Given the description of an element on the screen output the (x, y) to click on. 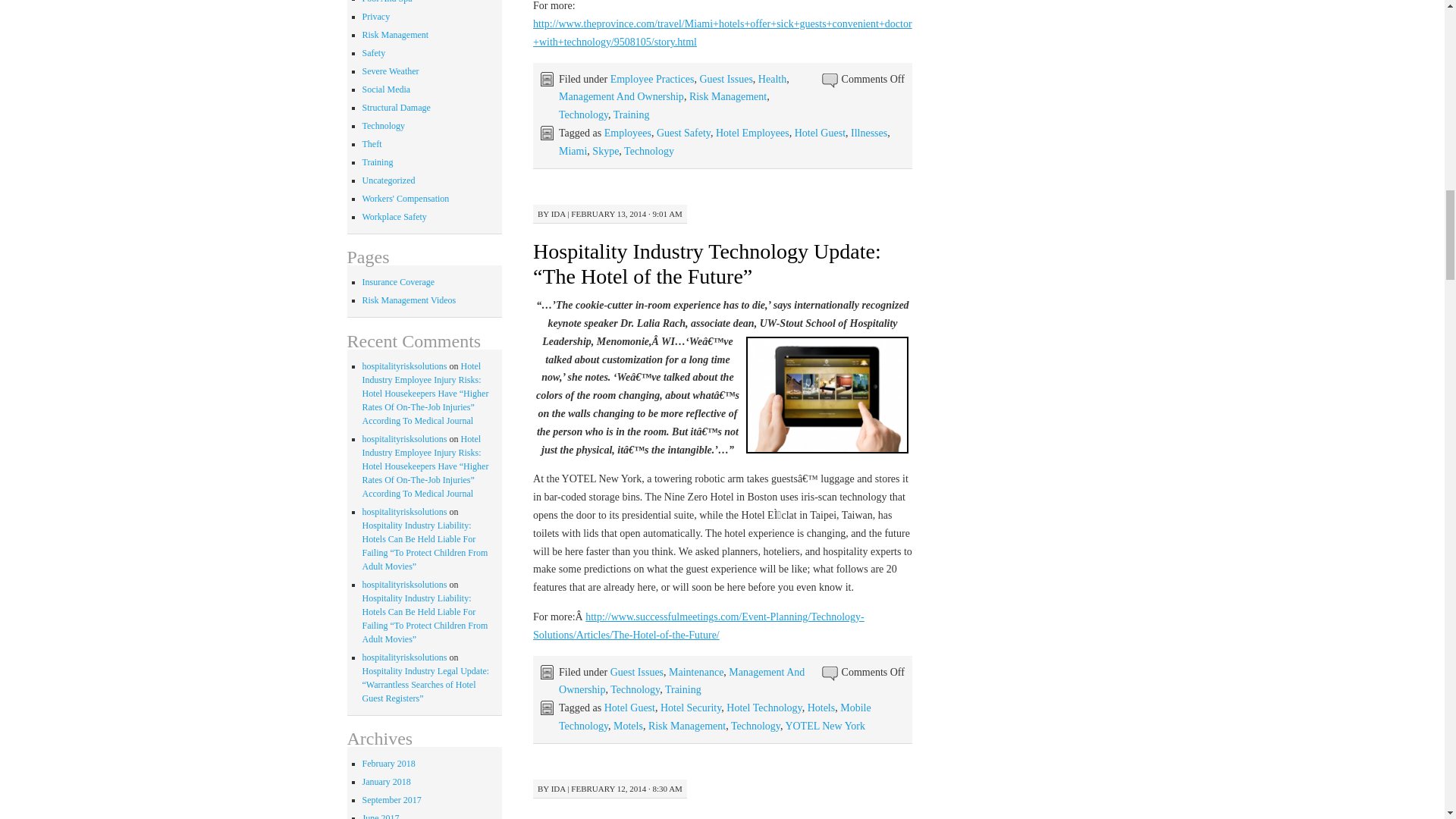
Risk Management (727, 96)
Employees (627, 132)
Management And Ownership (621, 96)
View all posts by Ida (558, 213)
Guest Safety (683, 132)
View all posts by Ida (558, 788)
Technology (583, 114)
Employee Practices (652, 79)
Health (772, 79)
Training (630, 114)
Guest Issues (725, 79)
